Given the description of an element on the screen output the (x, y) to click on. 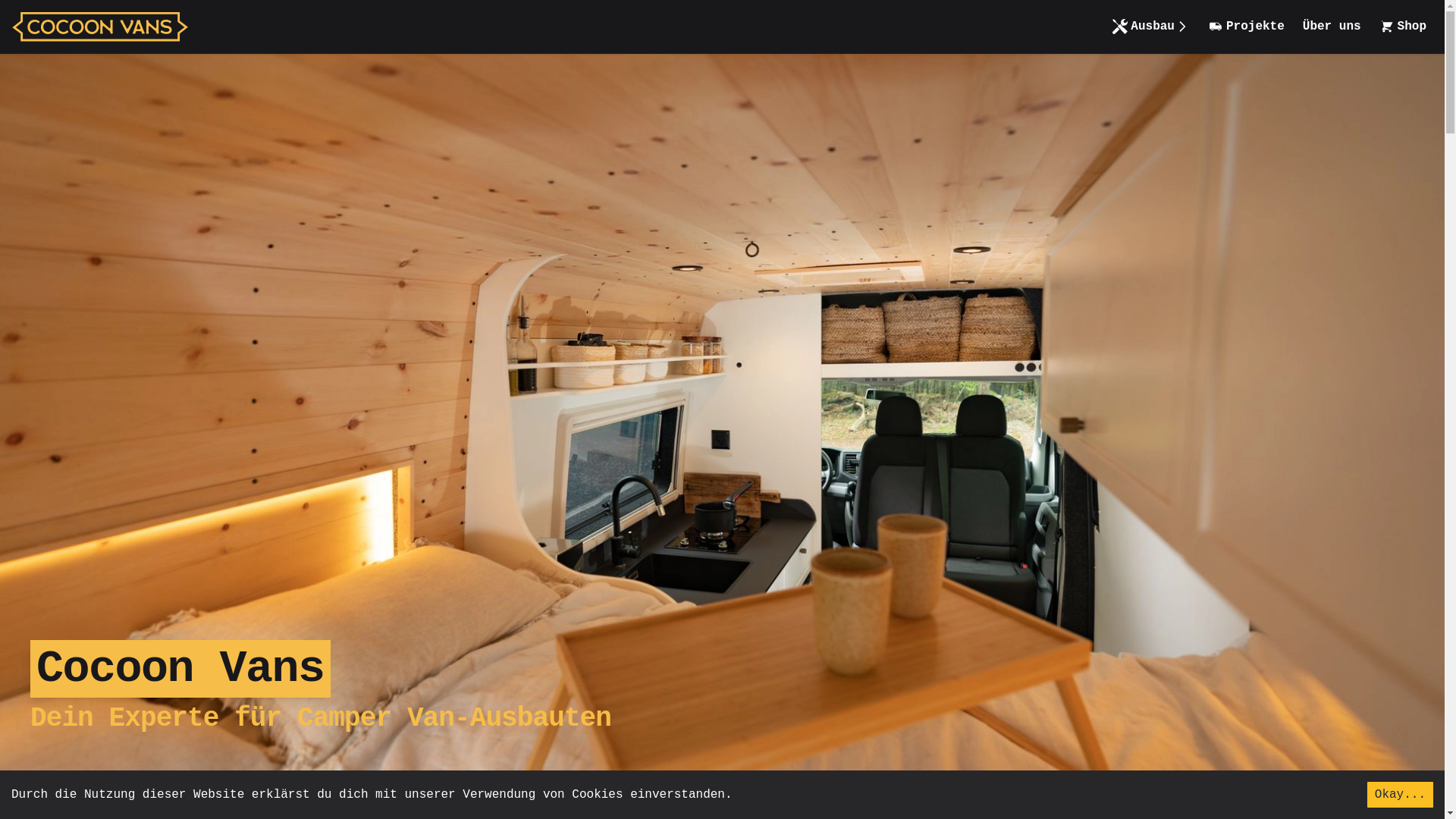
Logo Cocoon Vans Element type: hover (100, 26)
Projekte Element type: text (1245, 26)
Okay... Element type: text (1400, 794)
Shop Element type: text (1402, 26)
Ausbau Element type: text (1150, 26)
